Given the description of an element on the screen output the (x, y) to click on. 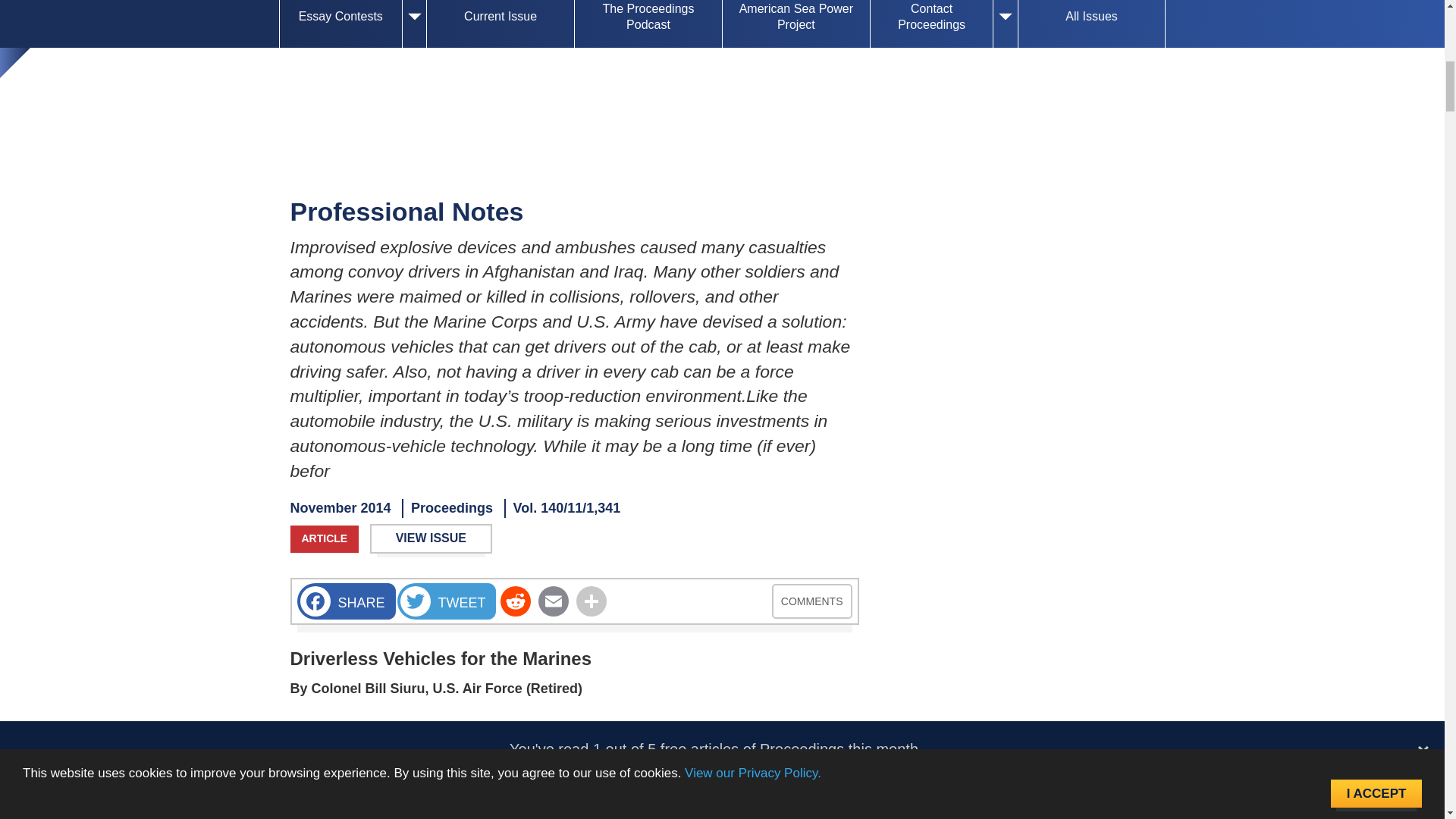
3rd party ad content (721, 102)
Current Issue of Proceedings (499, 24)
I ACCEPT (1376, 29)
View our Privacy Policy. (752, 32)
American Sea Power Project (795, 24)
